Given the description of an element on the screen output the (x, y) to click on. 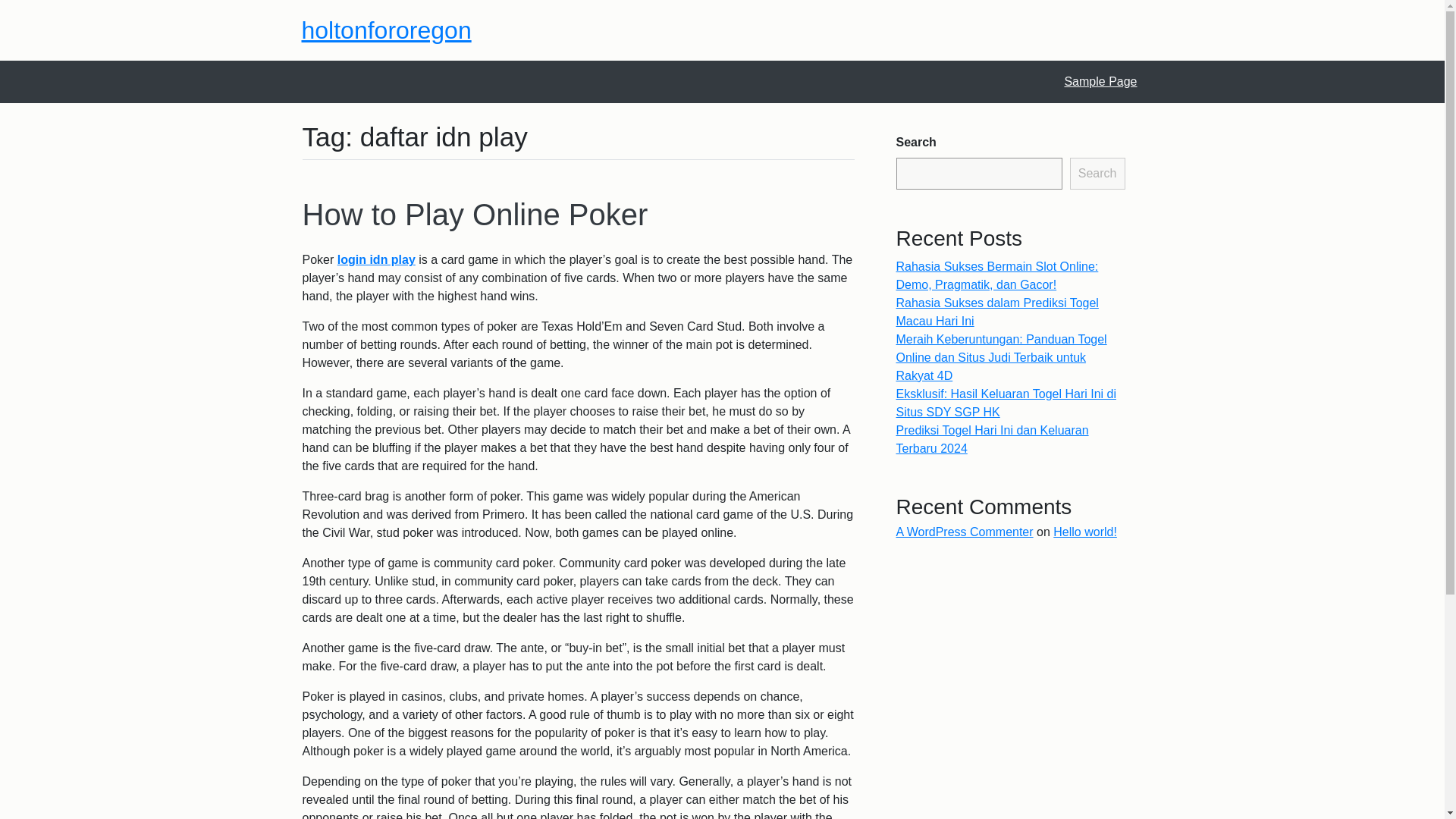
holtonfororegon (386, 30)
A WordPress Commenter (964, 531)
Prediksi Togel Hari Ini dan Keluaran Terbaru 2024 (992, 439)
Sample Page (1100, 81)
login idn play (375, 259)
How to Play Online Poker (474, 214)
Eksklusif: Hasil Keluaran Togel Hari Ini di Situs SDY SGP HK (1006, 402)
Hello world! (1084, 531)
Search (1097, 173)
Rahasia Sukses dalam Prediksi Togel Macau Hari Ini (997, 311)
